Given the description of an element on the screen output the (x, y) to click on. 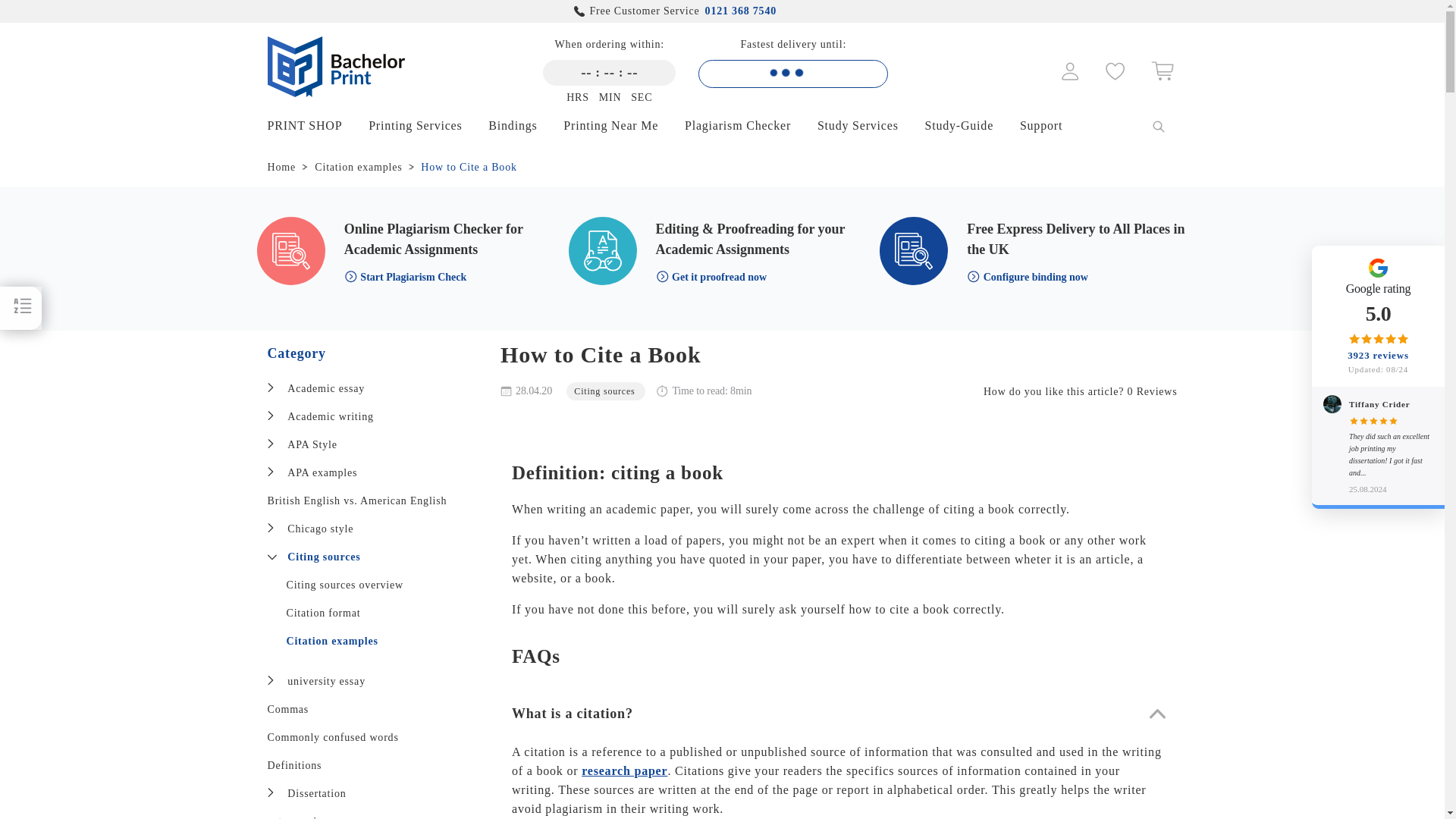
Proceed To Checkout (1162, 76)
PRINT SHOP (315, 124)
Bindings (523, 124)
Support (1052, 124)
Printing Services (426, 124)
Plagiarism Checker (748, 124)
Printing Services (426, 124)
Study-Guide (970, 124)
Printing Near Me (622, 124)
Study Services (868, 124)
